Given the description of an element on the screen output the (x, y) to click on. 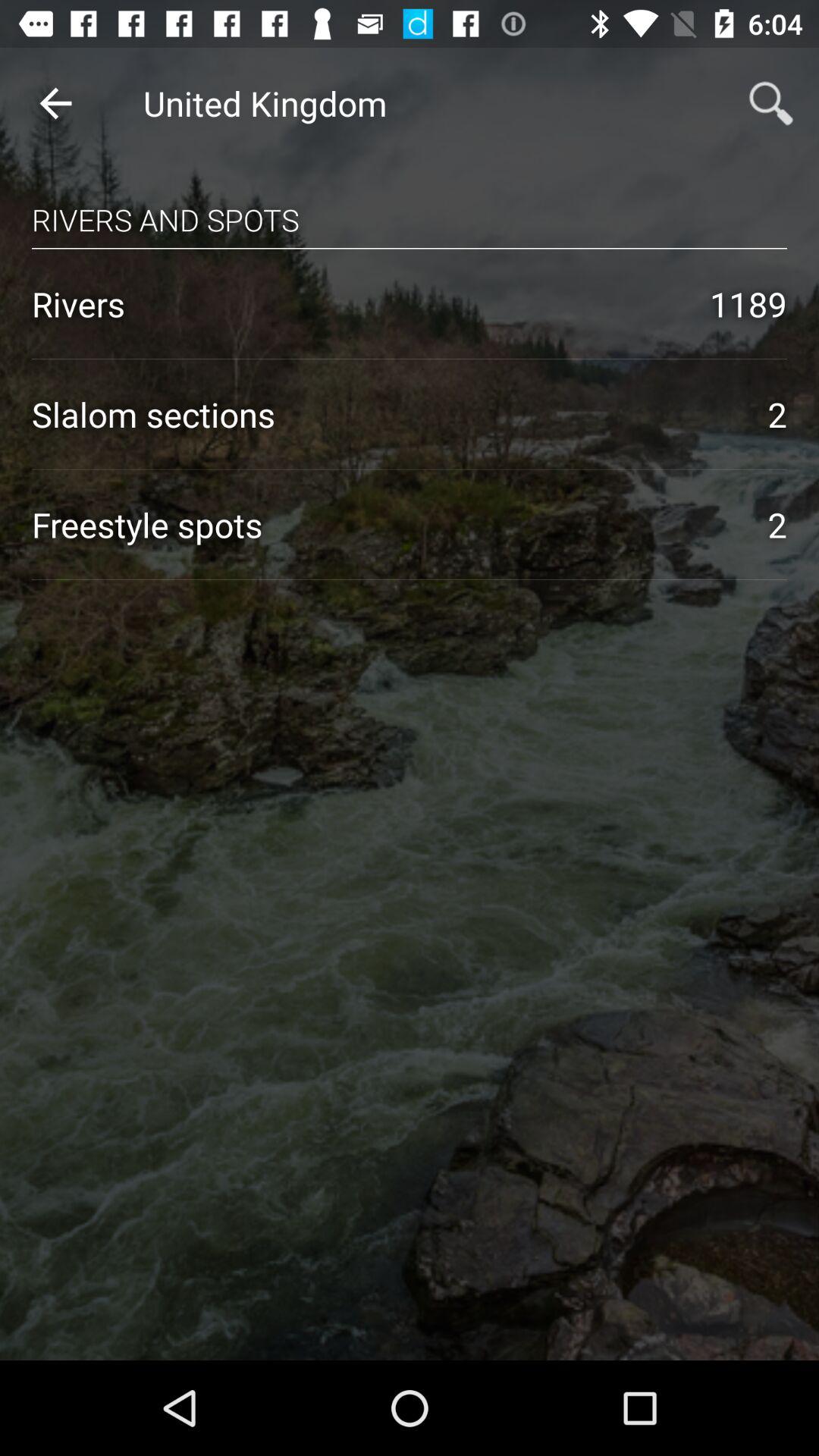
select 1189 icon (748, 303)
